Given the description of an element on the screen output the (x, y) to click on. 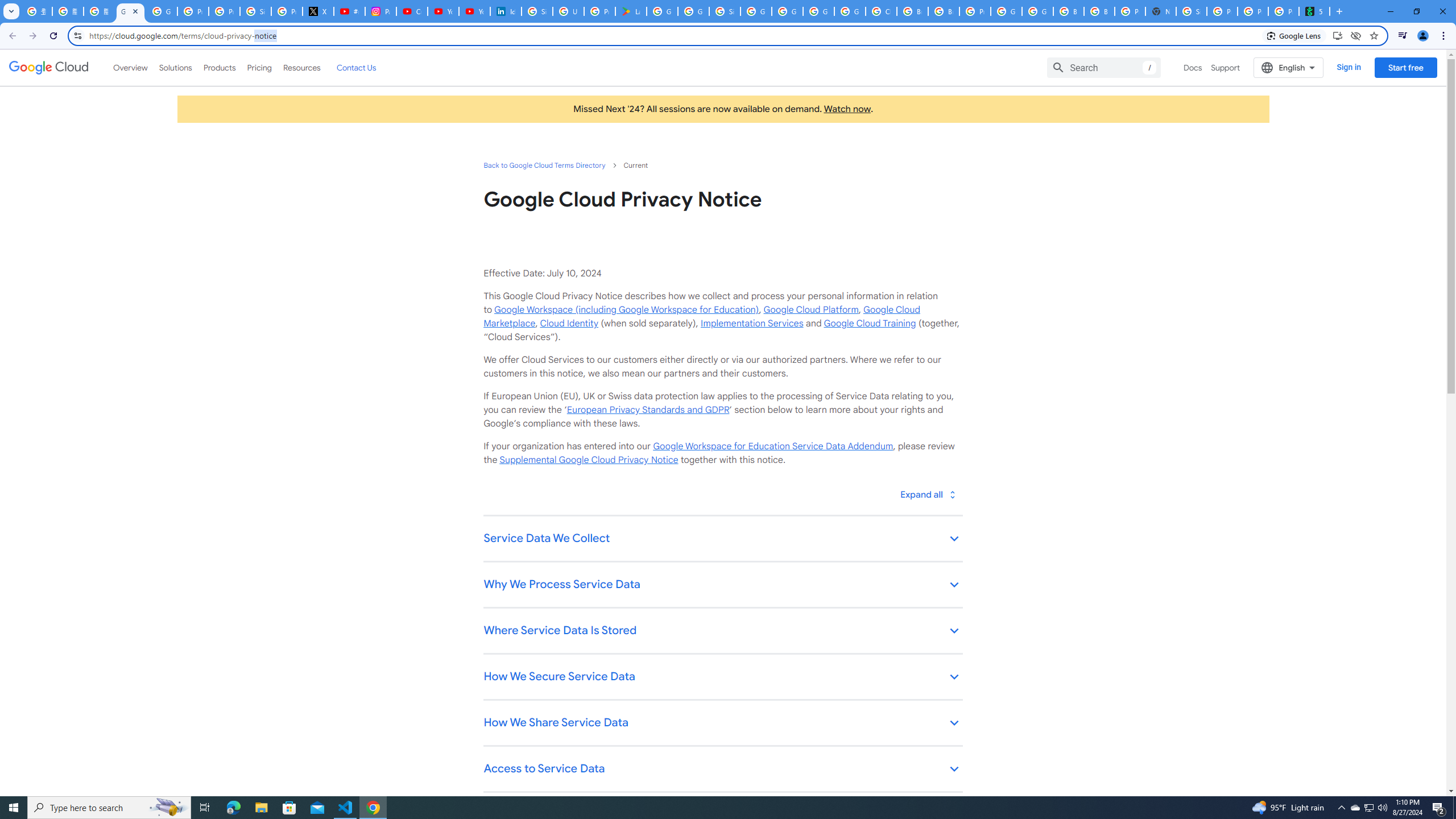
#nbabasketballhighlights - YouTube (349, 11)
Google Cloud Platform (818, 11)
Supplemental Google Cloud Privacy Notice (588, 460)
Watch now (847, 108)
Sign in - Google Accounts (1190, 11)
